Given the description of an element on the screen output the (x, y) to click on. 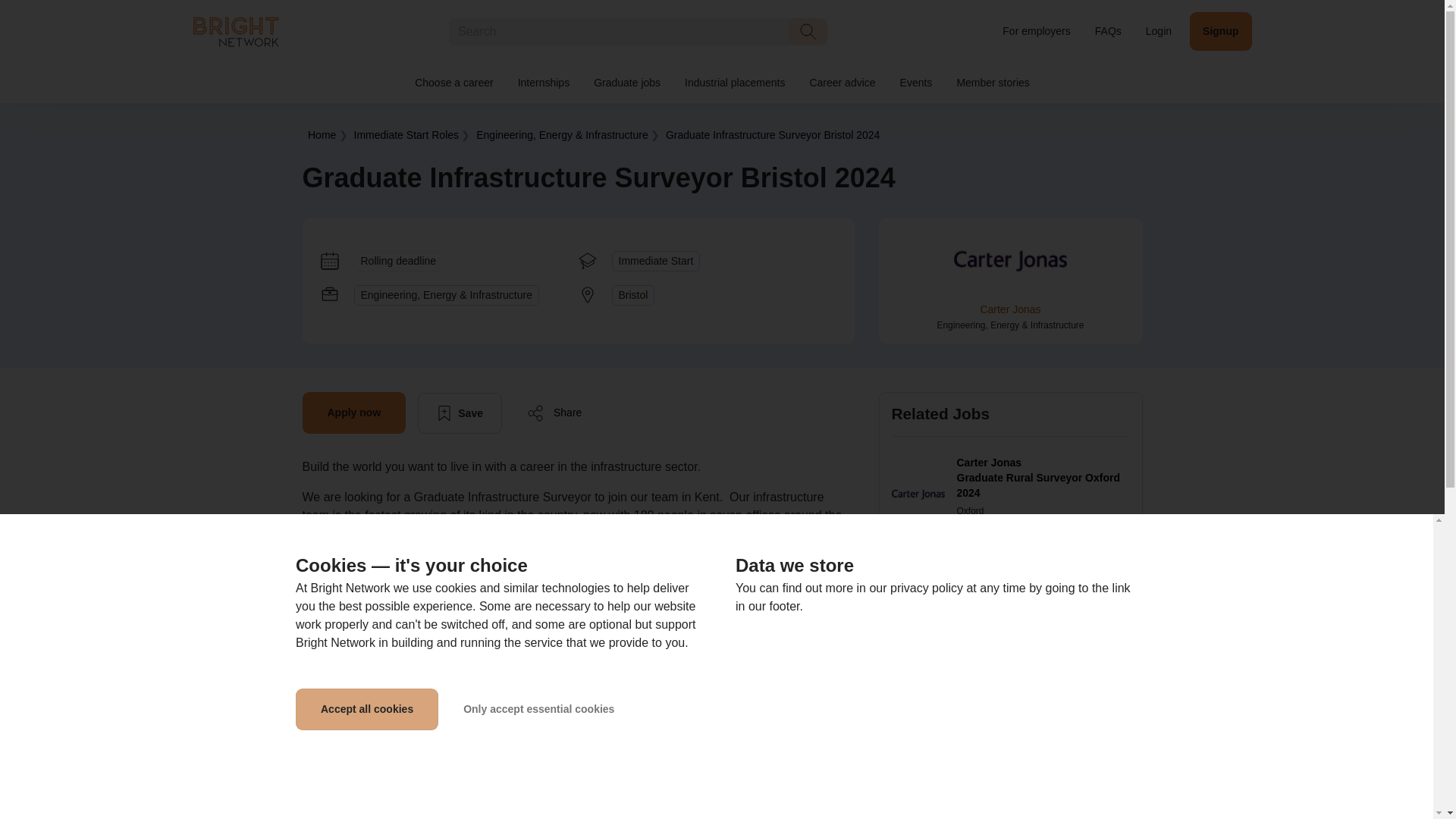
Choose a career (454, 83)
Internships (542, 83)
Immediate (406, 134)
Home (235, 30)
Events (916, 83)
Home (321, 134)
Industrial placements (734, 83)
Graduate jobs (626, 83)
Engineering, (561, 134)
Member stories (992, 83)
